Given the description of an element on the screen output the (x, y) to click on. 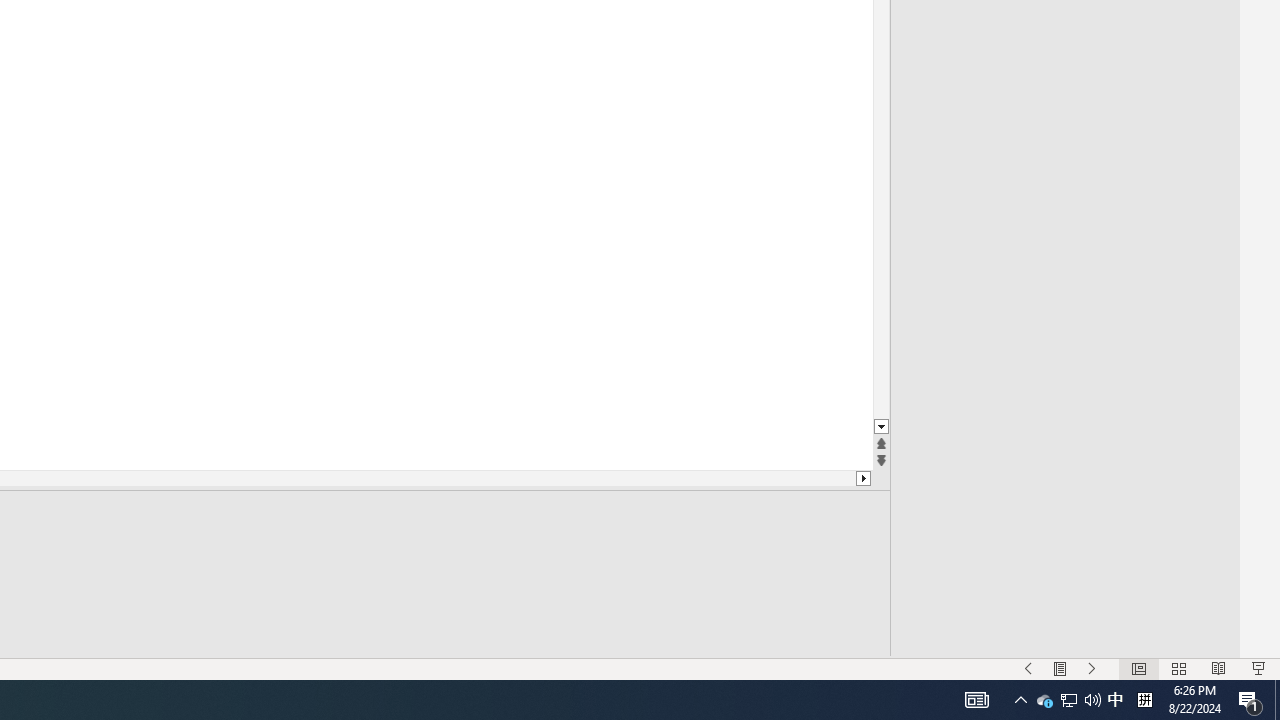
Slide Show Next On (1092, 668)
Slide Show Previous On (1028, 668)
Menu On (1060, 668)
